Given the description of an element on the screen output the (x, y) to click on. 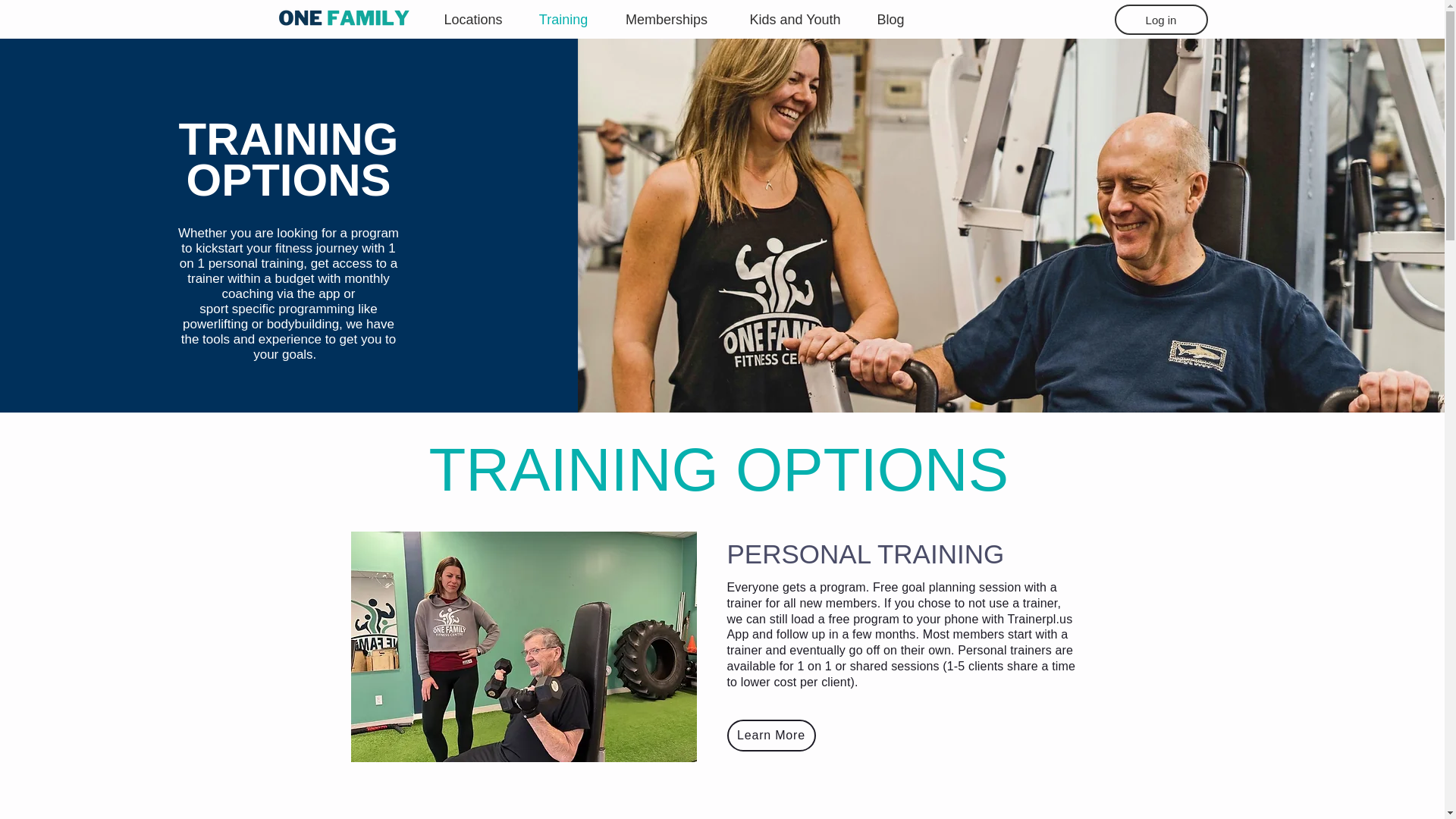
Training (563, 19)
Kids and Youth (795, 19)
Learn More (770, 735)
Blog (890, 19)
Locations (473, 19)
Memberships (665, 19)
Log in (1161, 19)
